Given the description of an element on the screen output the (x, y) to click on. 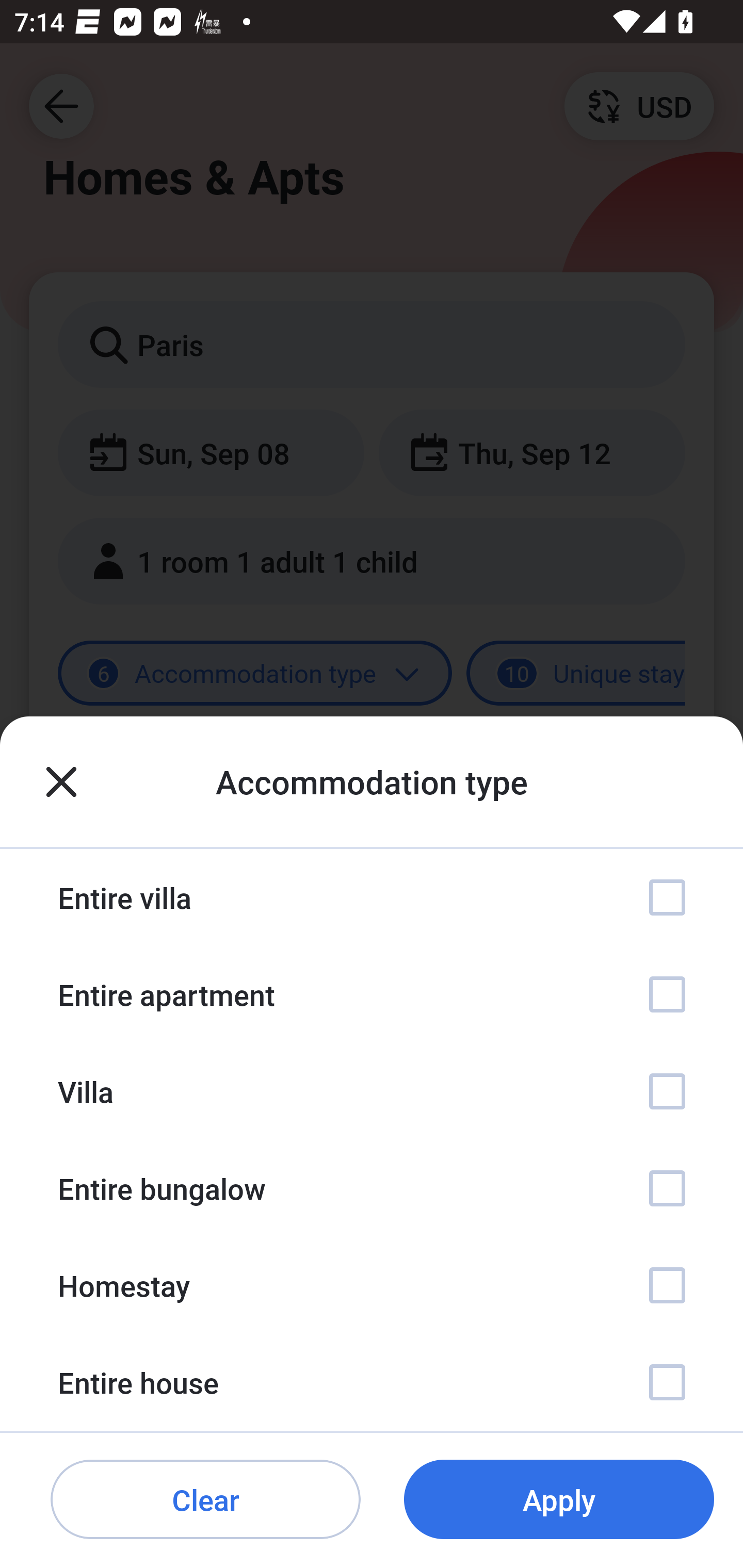
Entire villa (371, 897)
Entire apartment (371, 994)
Villa (371, 1091)
Entire bungalow (371, 1188)
Homestay (371, 1284)
Entire house (371, 1382)
Clear (205, 1499)
Apply (559, 1499)
